Given the description of an element on the screen output the (x, y) to click on. 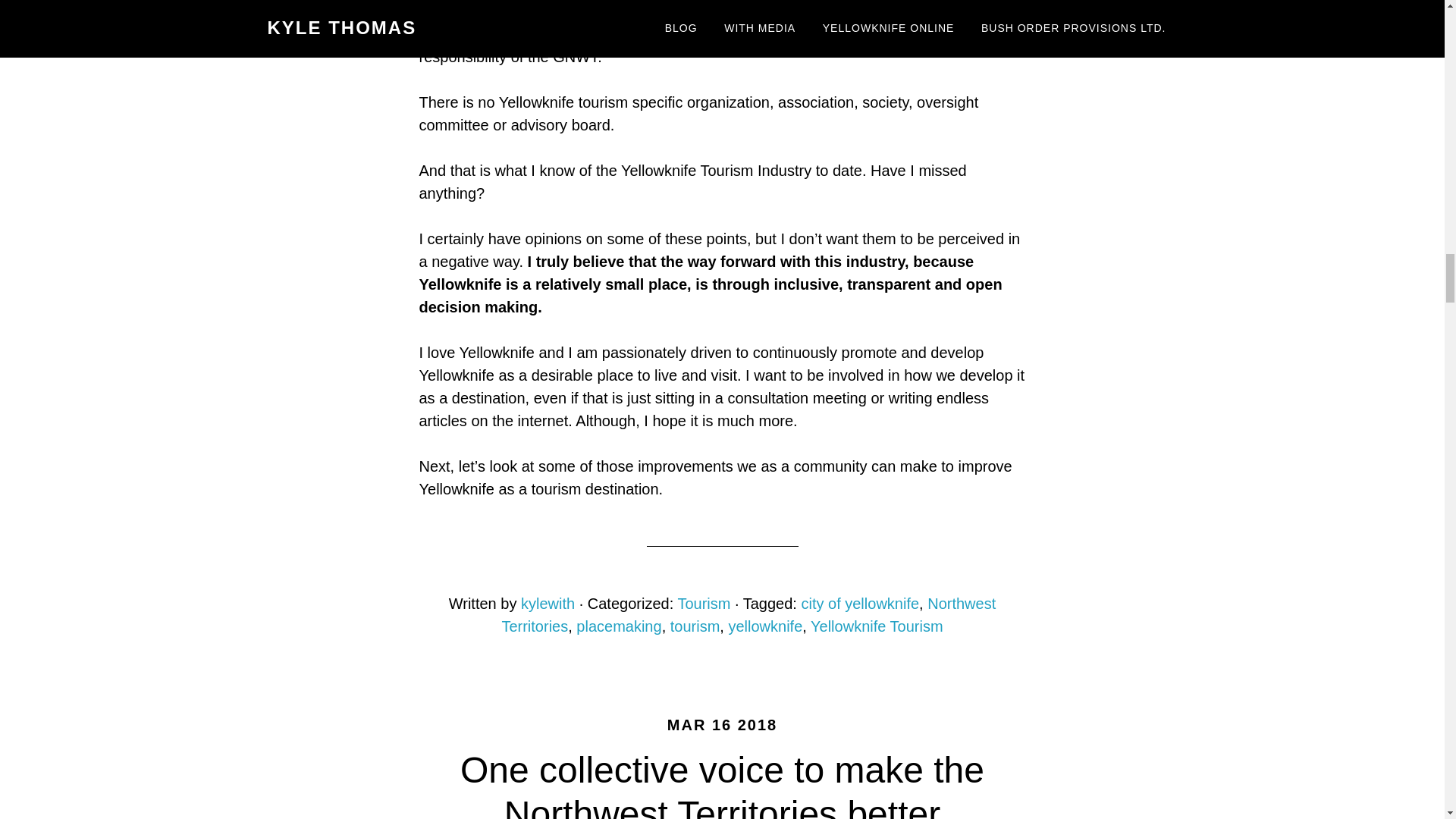
city of yellowknife (859, 603)
Northwest Territories (747, 614)
Yellowknife Tourism (876, 626)
tourism (694, 626)
Tourism (703, 603)
kylewith (548, 603)
yellowknife (765, 626)
placemaking (618, 626)
